Given the description of an element on the screen output the (x, y) to click on. 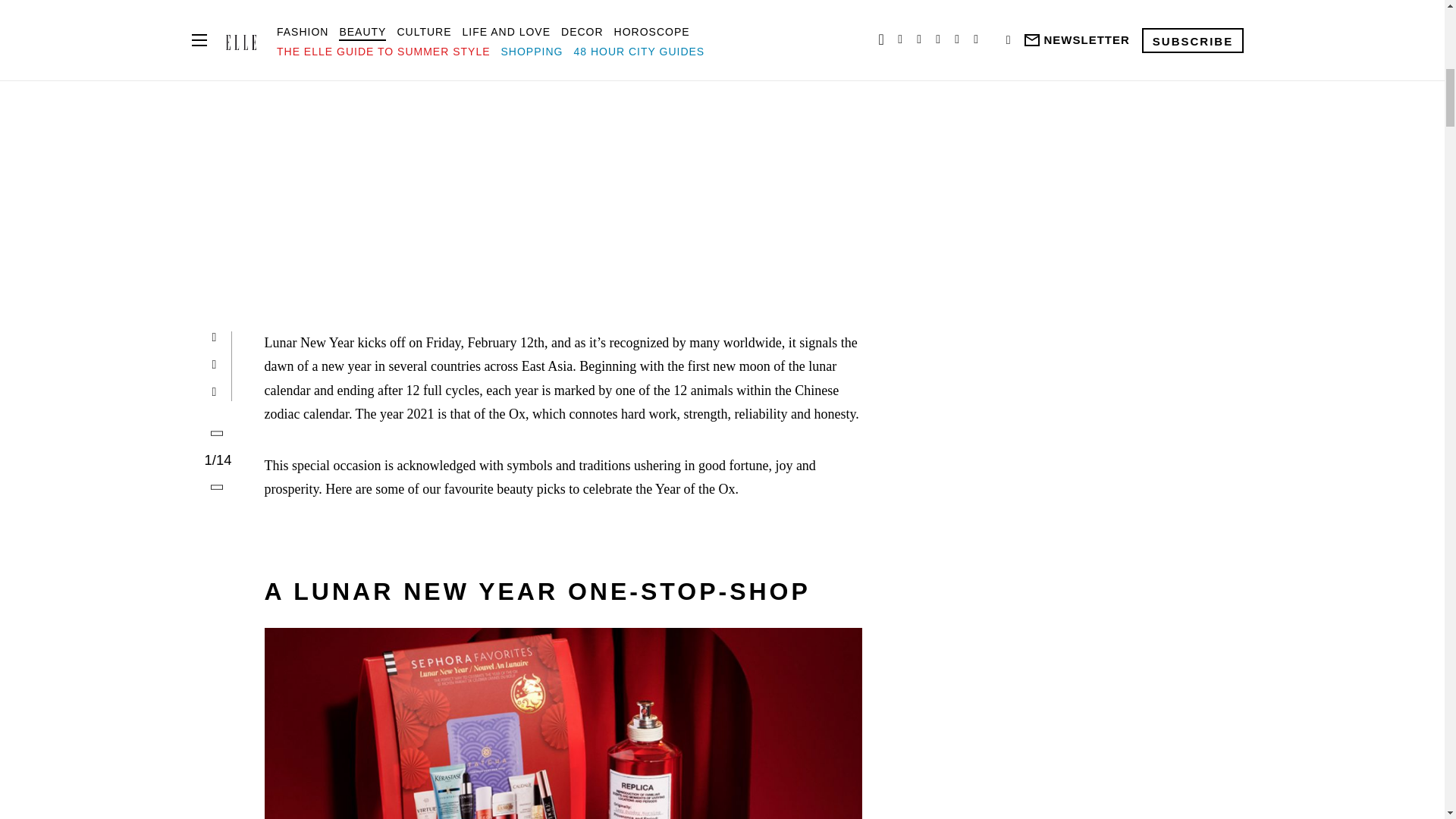
SEPHORA (562, 723)
